Given the description of an element on the screen output the (x, y) to click on. 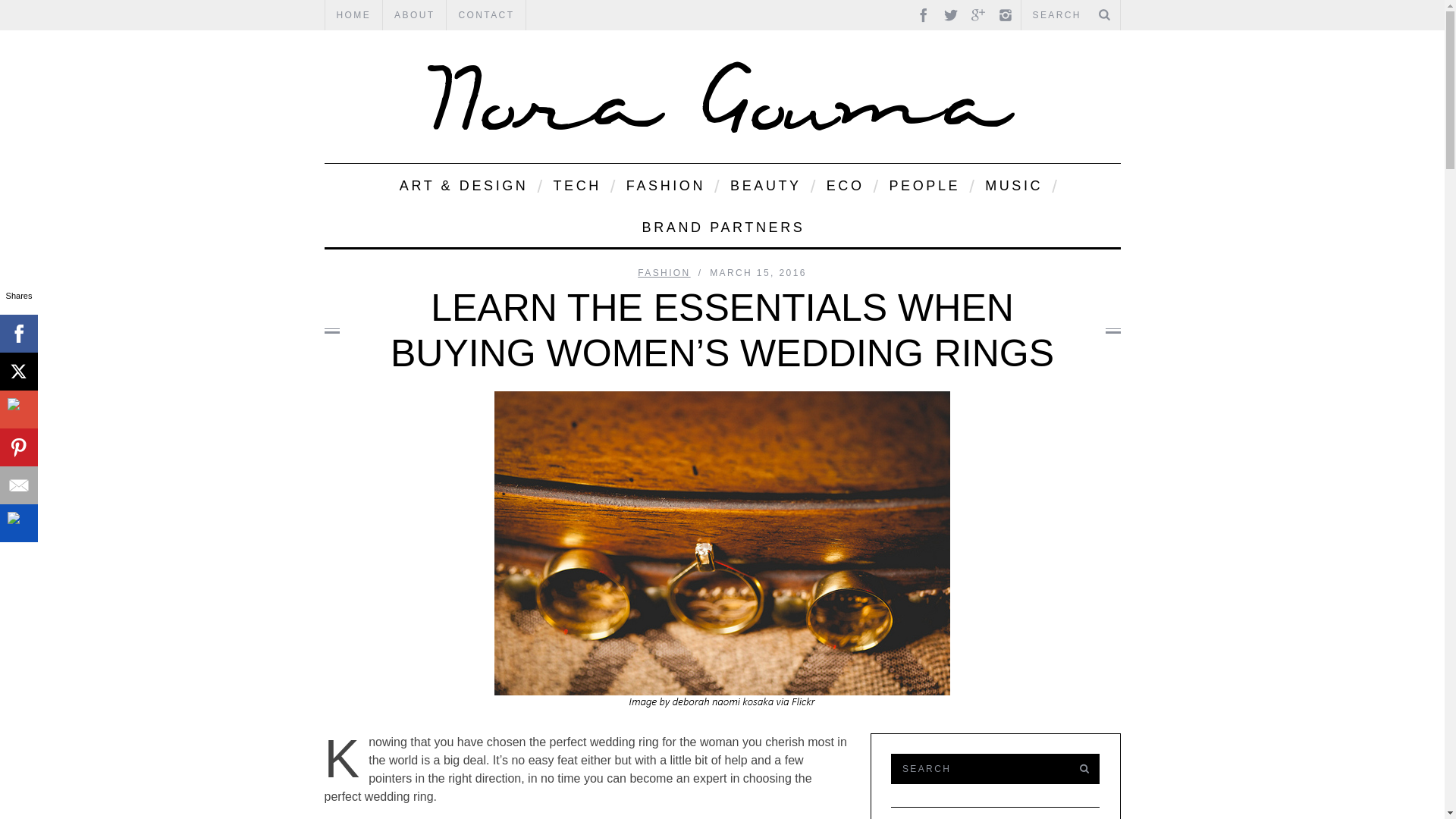
Search (976, 768)
 -  (722, 96)
Search (1070, 15)
